Given the description of an element on the screen output the (x, y) to click on. 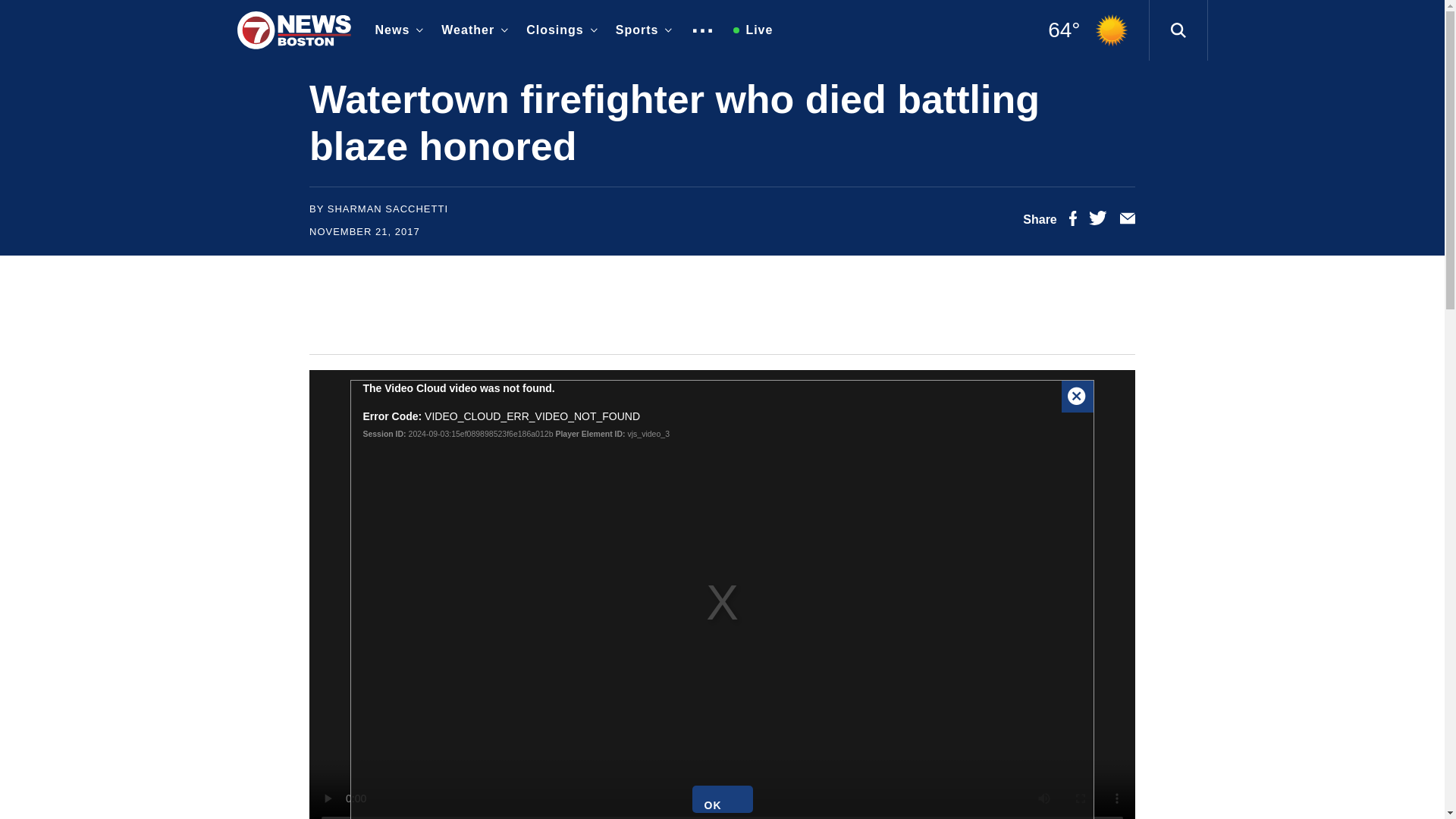
Closings (558, 30)
Sports (641, 30)
Twitter (1098, 221)
Email (1127, 221)
Posts by Sharman Sacchetti (387, 208)
November 21, 2017 (364, 231)
Weather (471, 30)
News (395, 30)
